Given the description of an element on the screen output the (x, y) to click on. 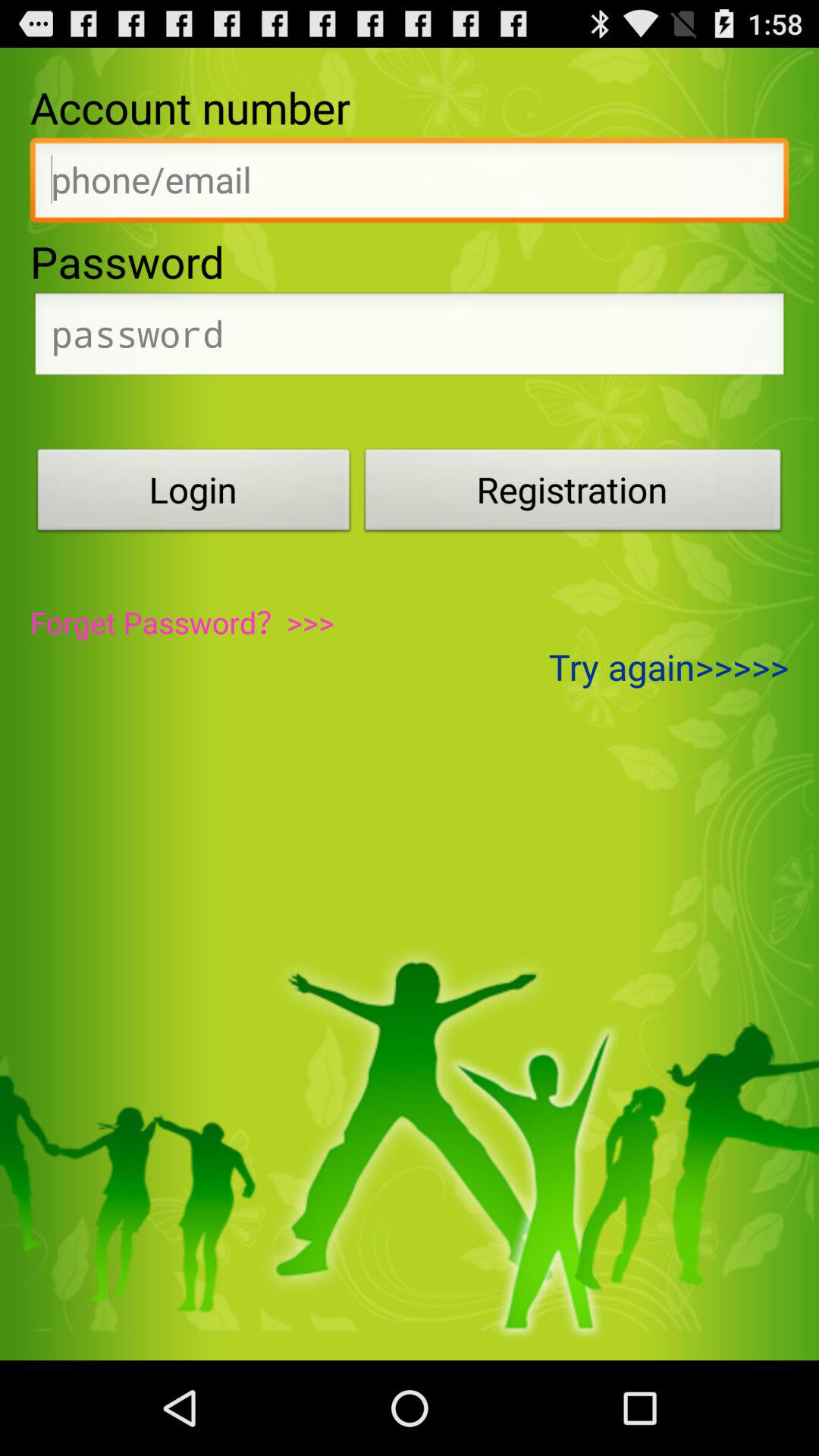
select button next to registration button (193, 494)
